Given the description of an element on the screen output the (x, y) to click on. 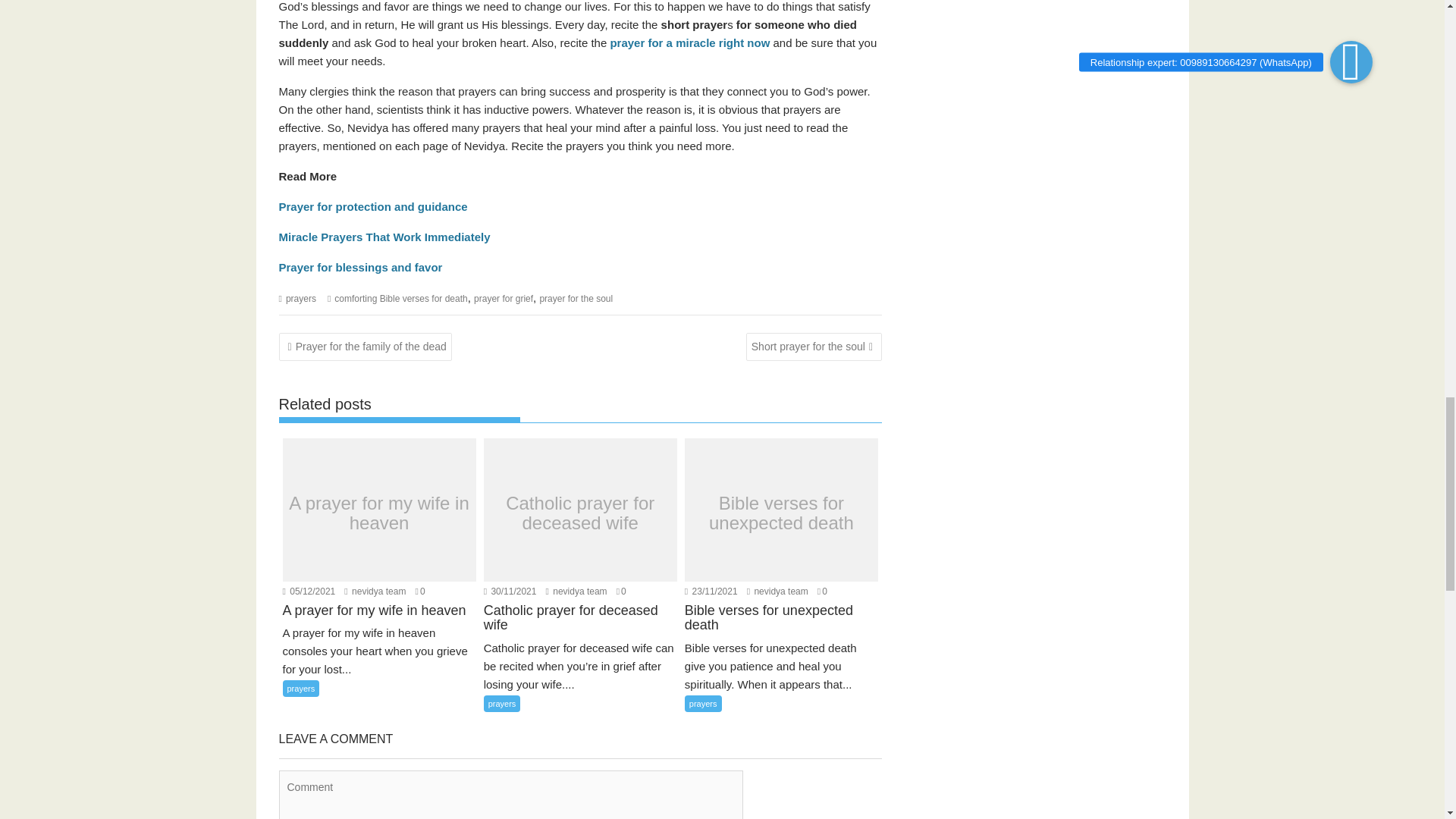
nevidya team (374, 591)
prayer for a miracle right now (690, 42)
nevidya team (777, 591)
Prayer for blessings and favor (360, 267)
nevidya team (576, 591)
comforting Bible verses for death (400, 298)
Miracle Prayers That Work Immediately (384, 236)
prayers (300, 298)
Prayer for protection and guidance (373, 205)
